Given the description of an element on the screen output the (x, y) to click on. 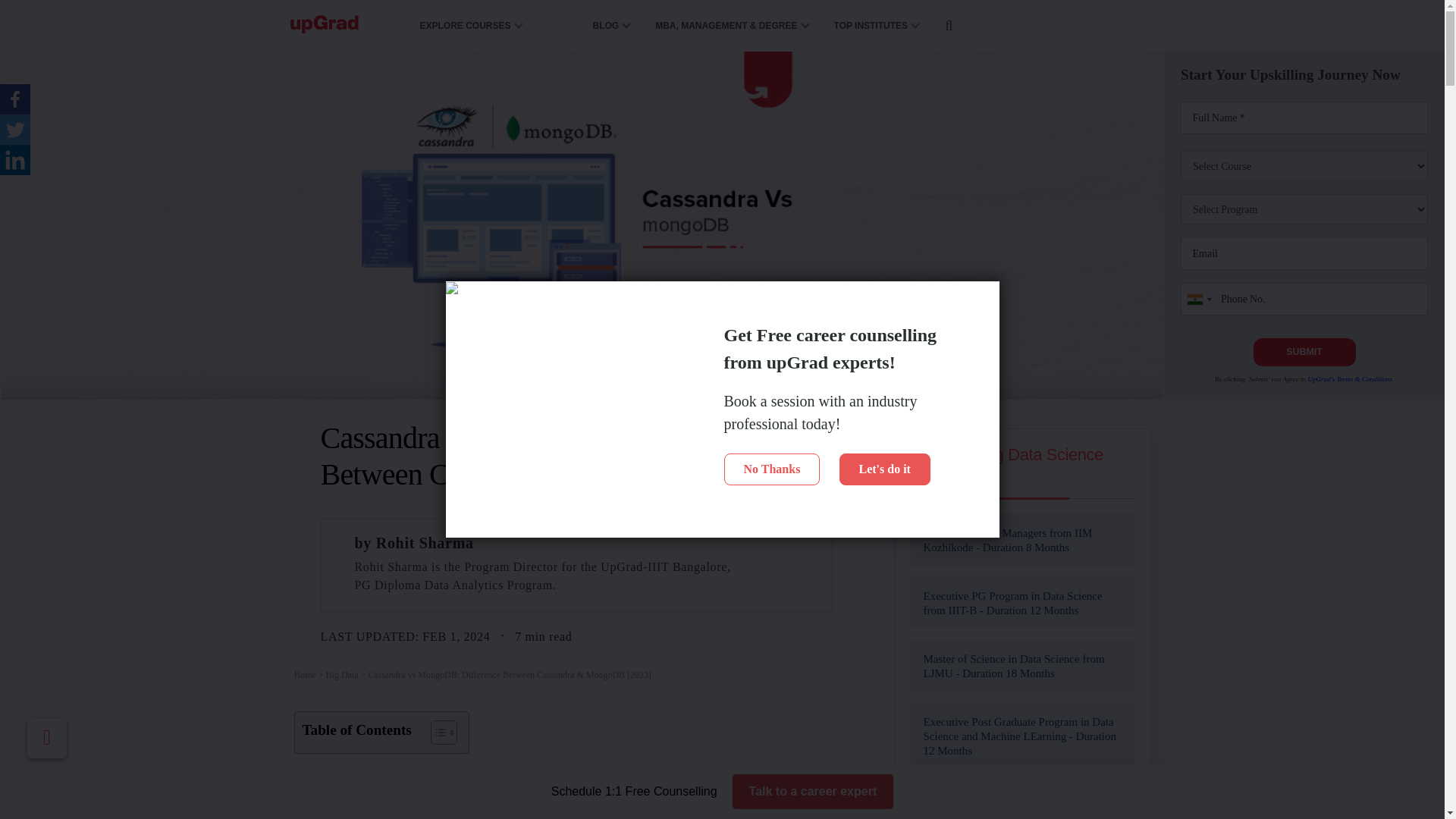
EXPLORE COURSES (474, 25)
Submit (1303, 352)
BLOG (606, 25)
